Given the description of an element on the screen output the (x, y) to click on. 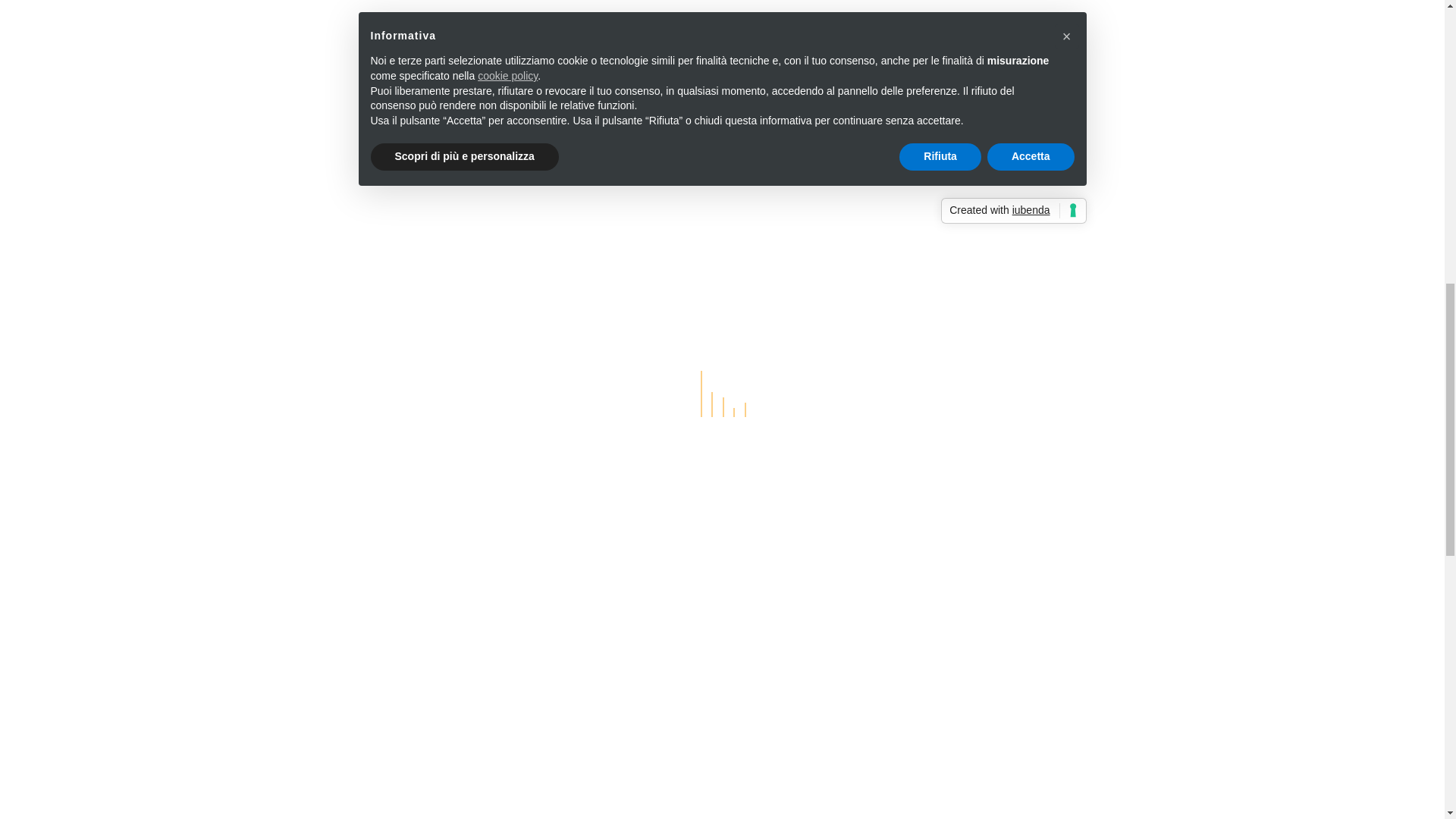
Home (335, 794)
LinkedIn (610, 801)
Instagram (645, 801)
Prodotti e Servizi (366, 815)
